Given the description of an element on the screen output the (x, y) to click on. 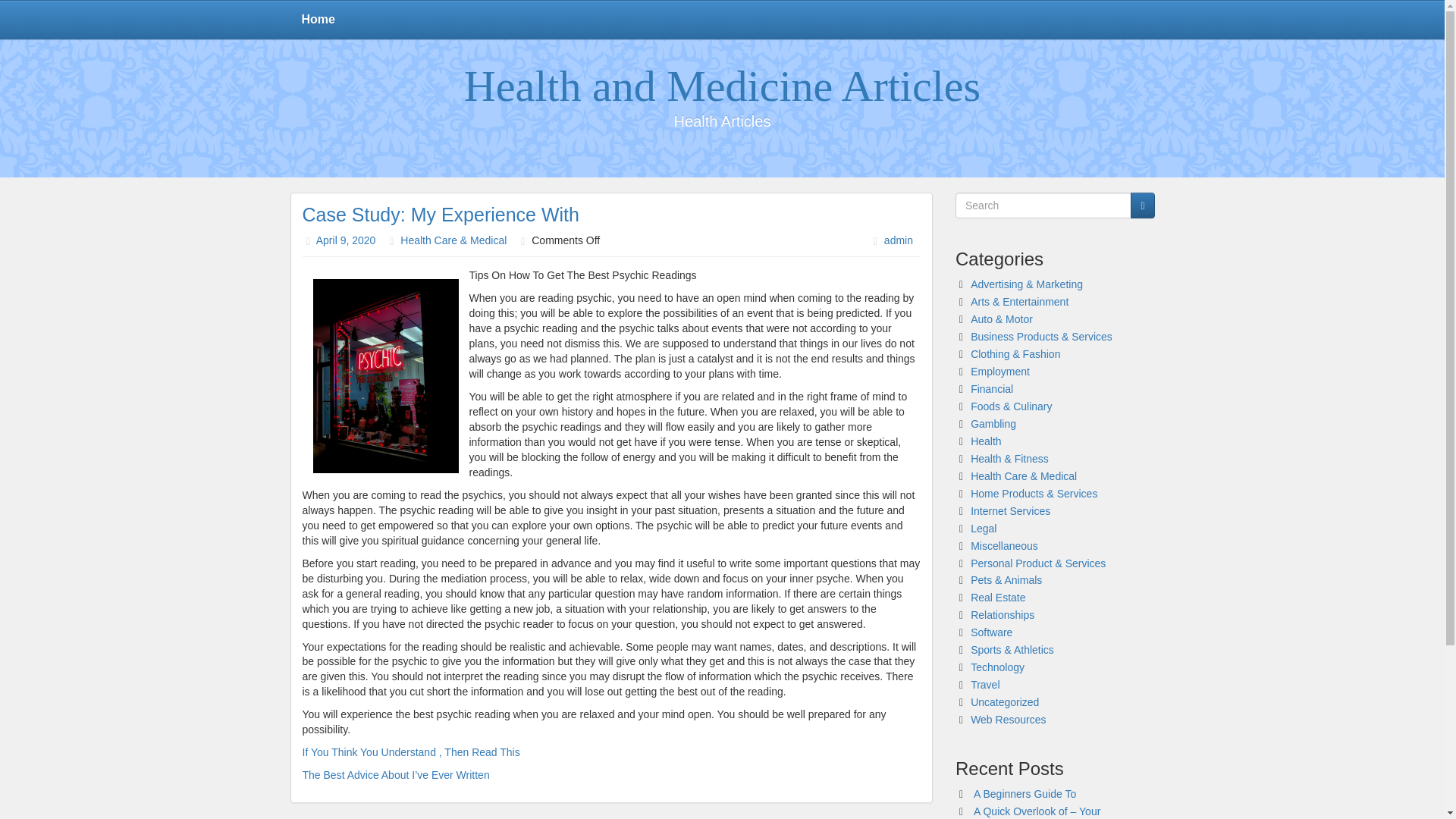
A Beginners Guide To (1024, 793)
April 9, 2020 (345, 240)
Miscellaneous (1004, 545)
If You Think You Understand , Then Read This (410, 752)
Employment (1000, 371)
admin (897, 240)
Technology (998, 666)
Home (317, 19)
Health and Medicine Articles (721, 85)
Financial (992, 388)
Software (991, 632)
Uncategorized (1005, 702)
Web Resources (1008, 719)
Gambling (993, 423)
Internet Services (1010, 510)
